Given the description of an element on the screen output the (x, y) to click on. 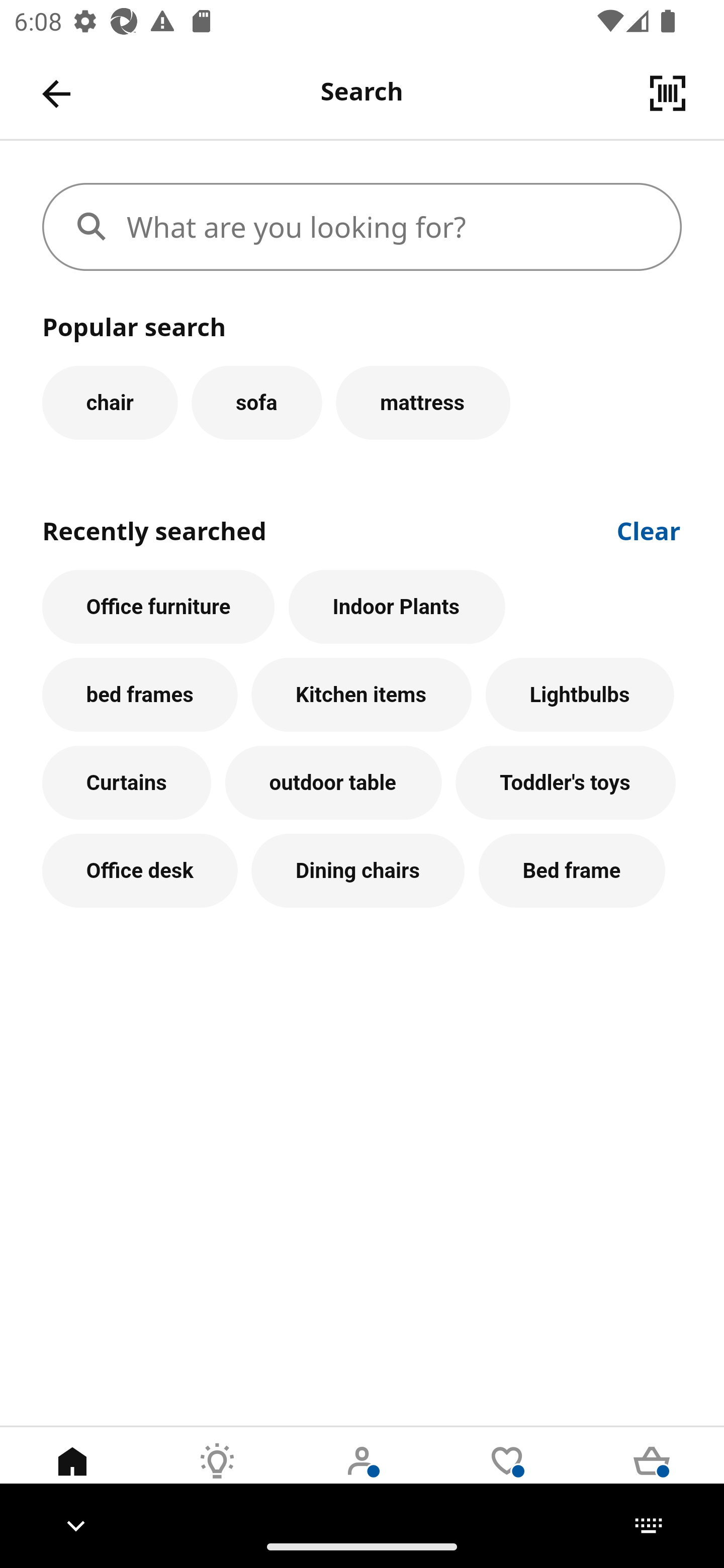
chair (109, 402)
sofa (256, 402)
mattress (423, 402)
Clear (649, 528)
Office furniture (157, 606)
Indoor Plants (396, 606)
bed frames (139, 695)
Kitchen items (361, 695)
Lightbulbs (579, 695)
Curtains (126, 783)
outdoor table (333, 783)
Toddler's toys (565, 783)
Office desk (139, 870)
Dining chairs (357, 870)
Bed frame (571, 870)
Home
Tab 1 of 5 (72, 1476)
Inspirations
Tab 2 of 5 (216, 1476)
User
Tab 3 of 5 (361, 1476)
Wishlist
Tab 4 of 5 (506, 1476)
Cart
Tab 5 of 5 (651, 1476)
